Given the description of an element on the screen output the (x, y) to click on. 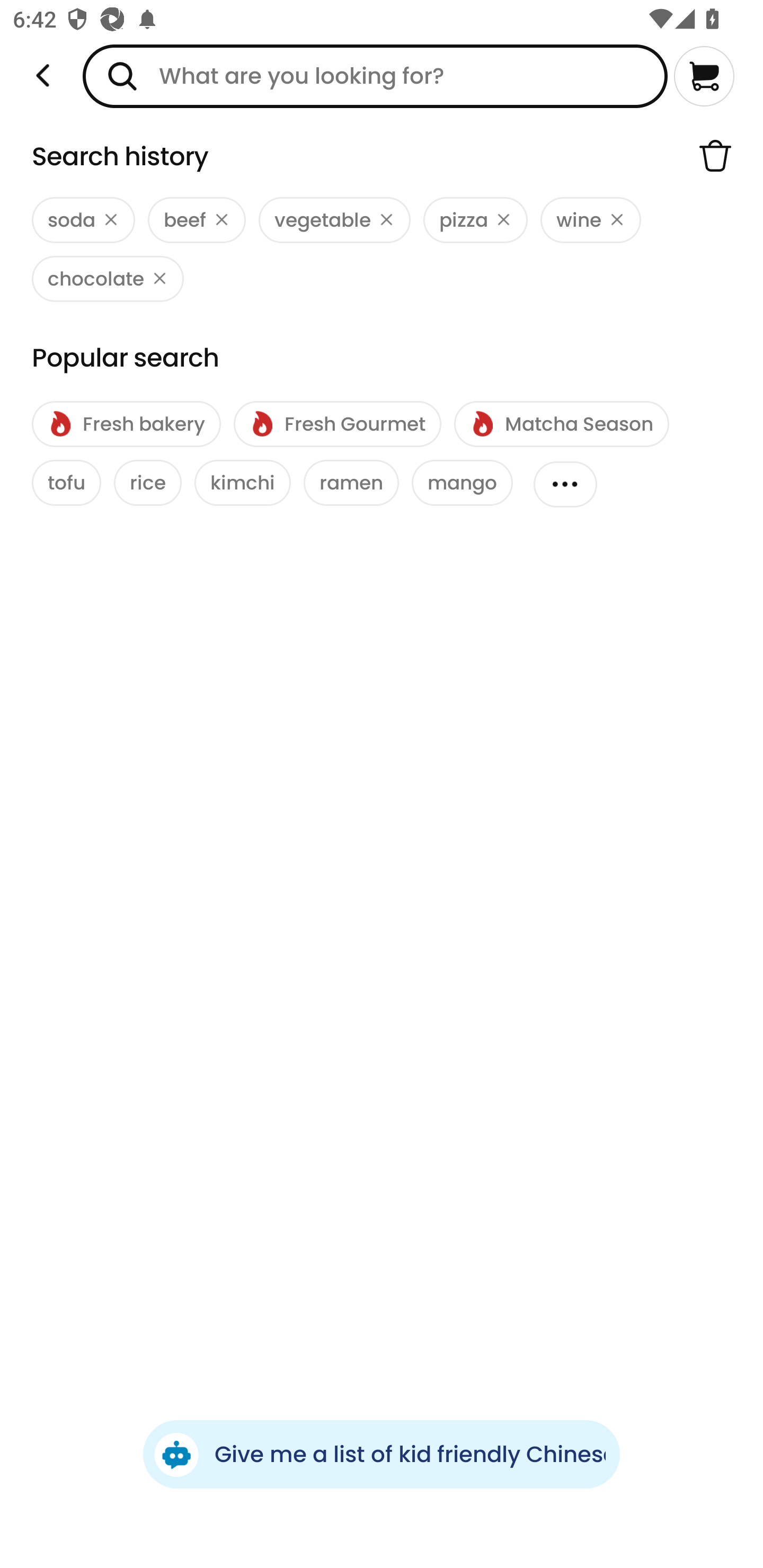
What are you looking for? (374, 75)
Weee! (42, 76)
soda (83, 220)
beef (196, 220)
vegetable (334, 220)
pizza (475, 220)
wine (590, 220)
chocolate (107, 278)
Fresh bakery (126, 423)
Fresh Gourmet (337, 423)
Matcha Season (561, 423)
tofu (66, 482)
rice (147, 482)
kimchi (242, 482)
ramen (351, 482)
mango (462, 482)
